Given the description of an element on the screen output the (x, y) to click on. 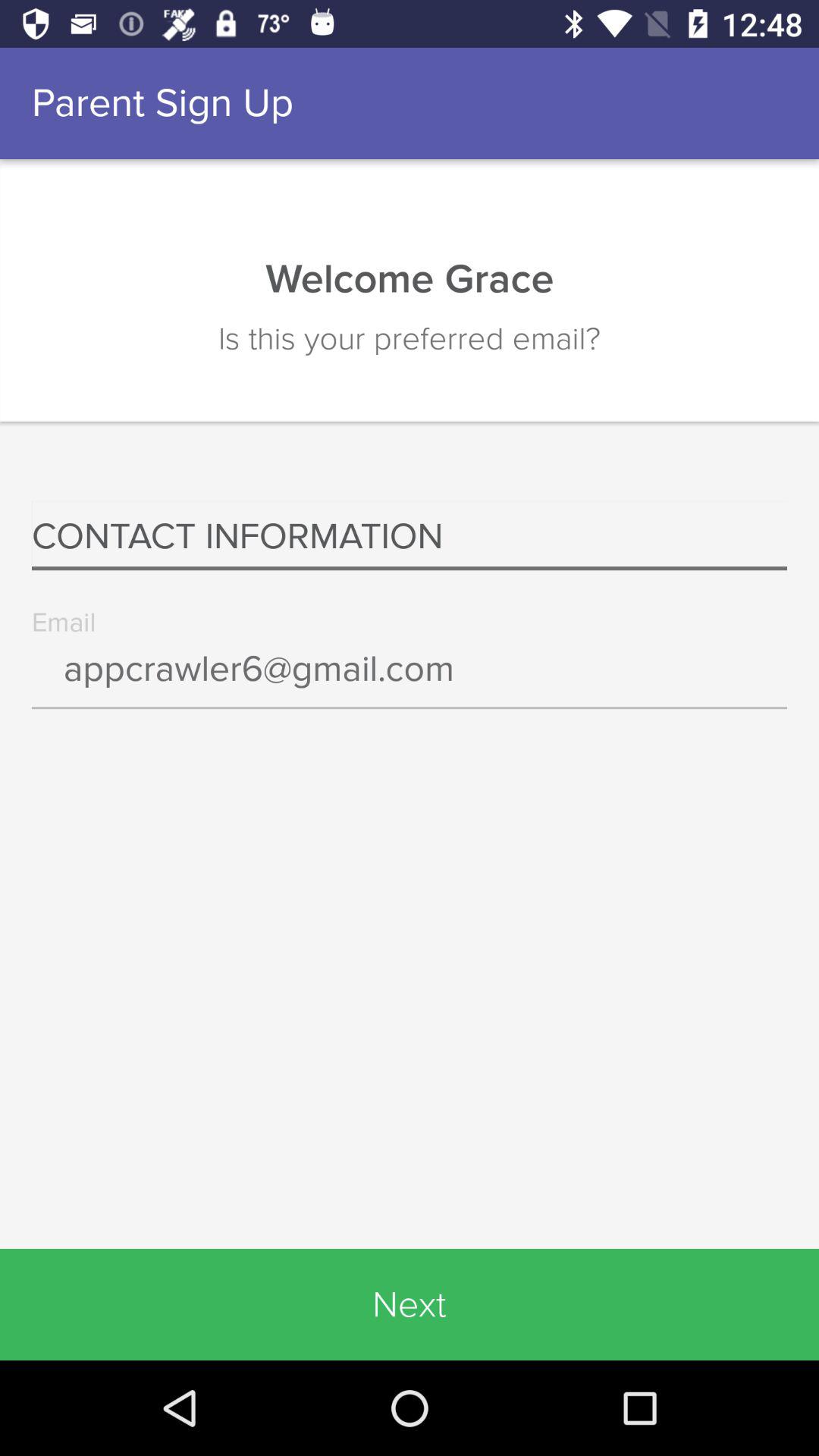
choose icon above the next icon (409, 679)
